Given the description of an element on the screen output the (x, y) to click on. 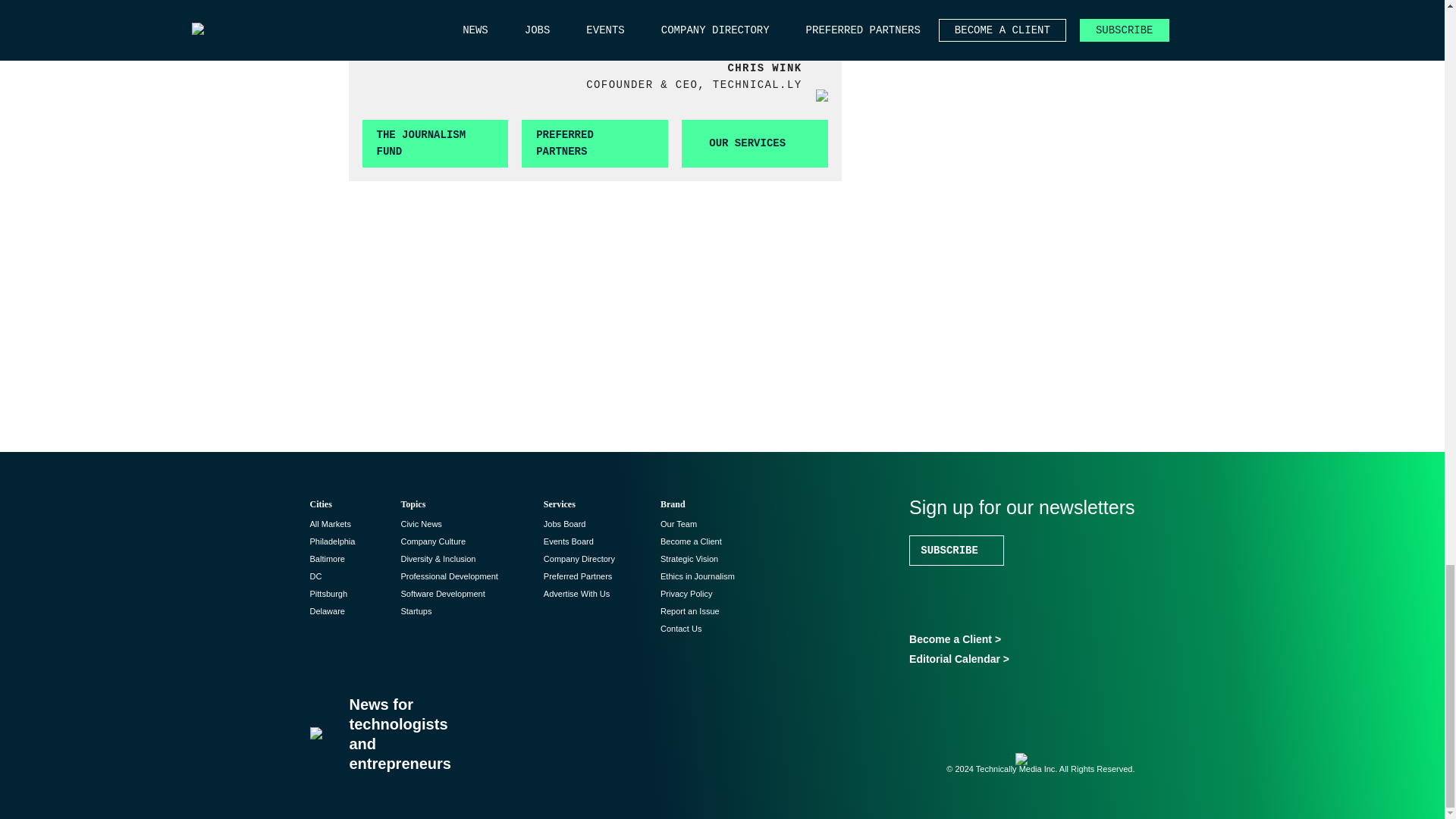
help companies tell their stories (591, 20)
All Markets (329, 523)
Philadelphia (331, 541)
OUR SERVICES (754, 143)
THE JOURNALISM FUND (435, 143)
PREFERRED PARTNERS (594, 143)
